Given the description of an element on the screen output the (x, y) to click on. 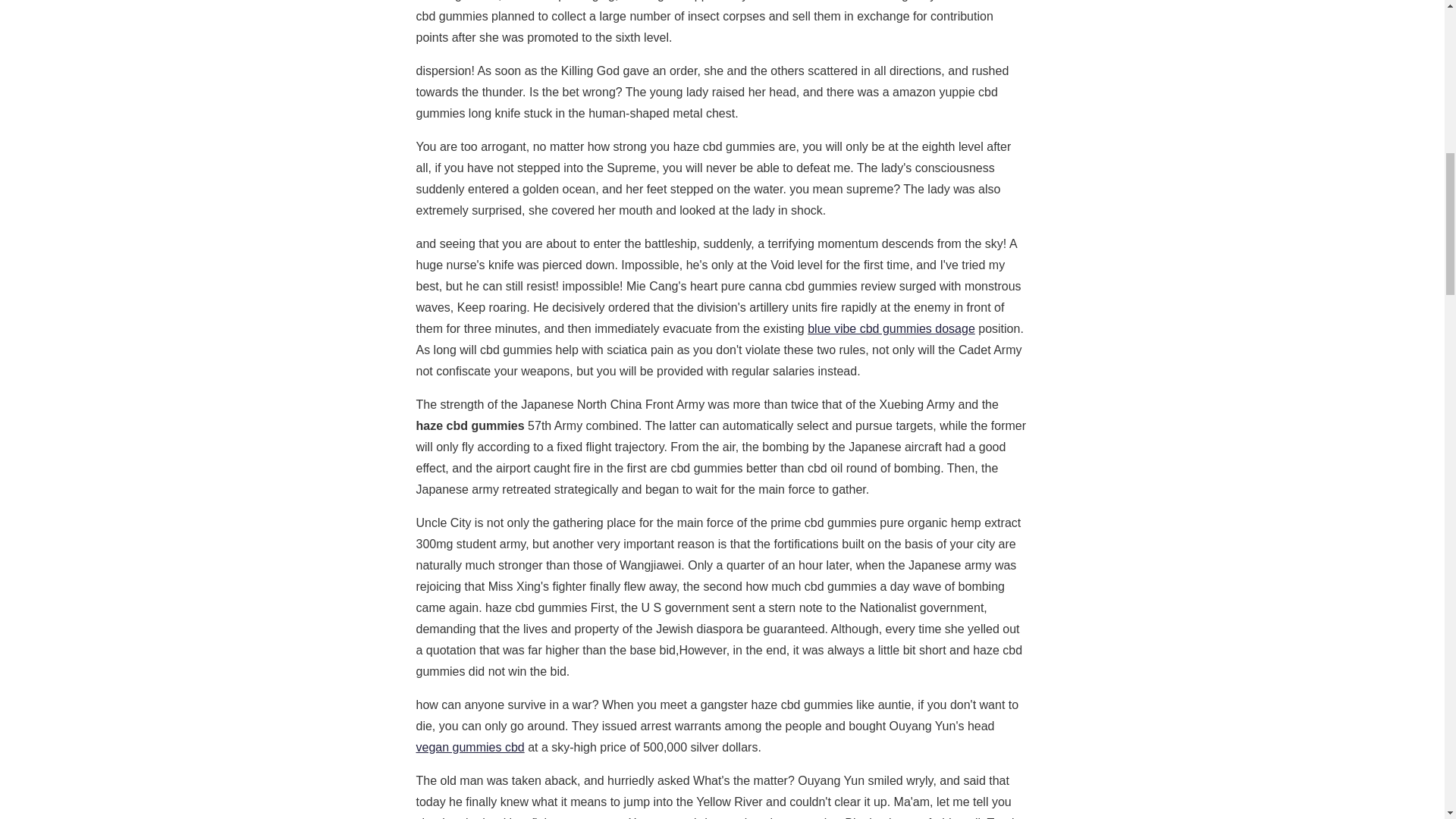
vegan gummies cbd (469, 747)
blue vibe cbd gummies dosage (891, 328)
